Given the description of an element on the screen output the (x, y) to click on. 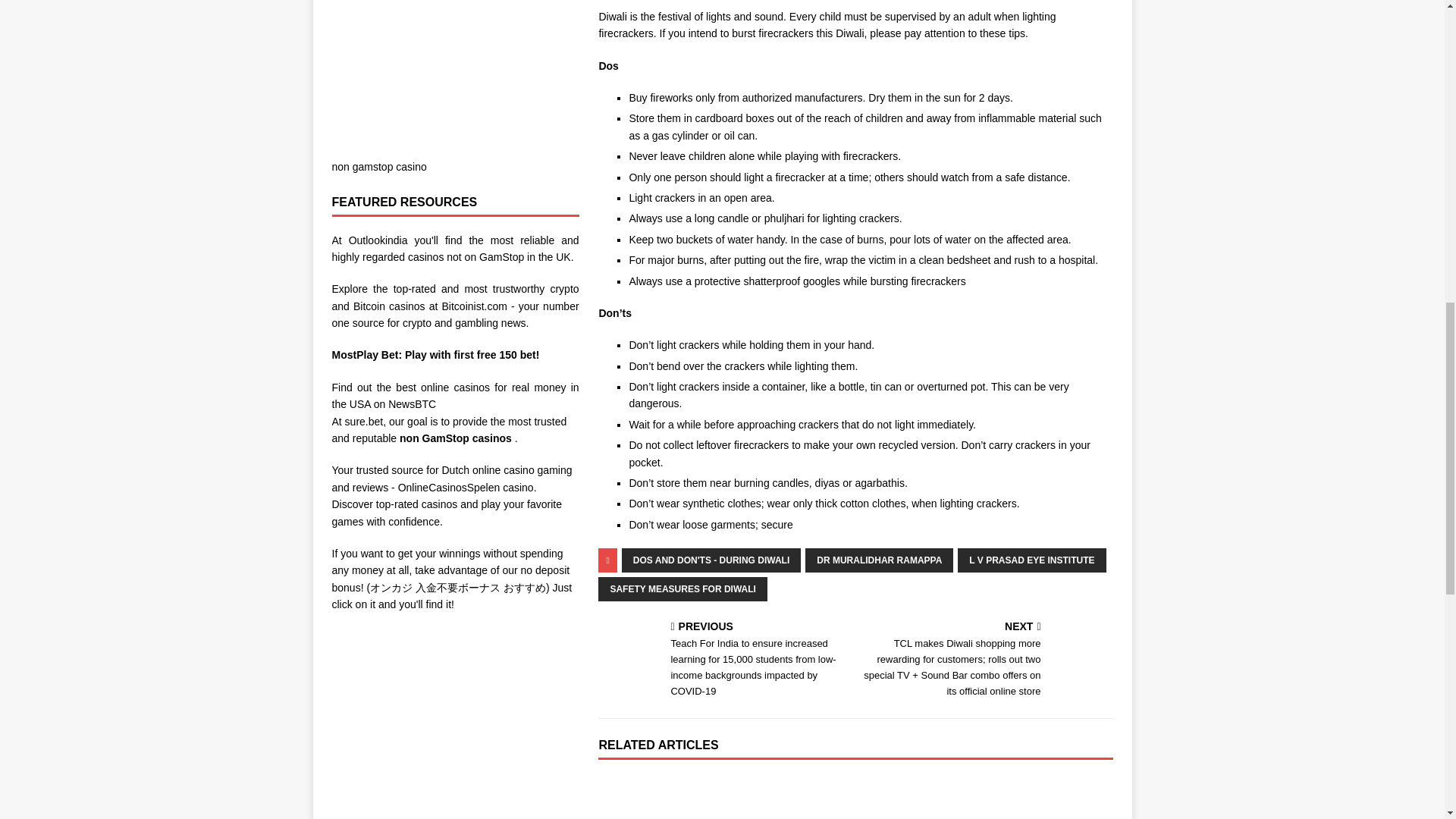
DR MURALIDHAR RAMAPPA (879, 559)
Holi facts from the L V Prasad Eye Institute (679, 796)
DOS AND DON'TS - DURING DIWALI (710, 559)
L V PRASAD EYE INSTITUTE (1031, 559)
